Given the description of an element on the screen output the (x, y) to click on. 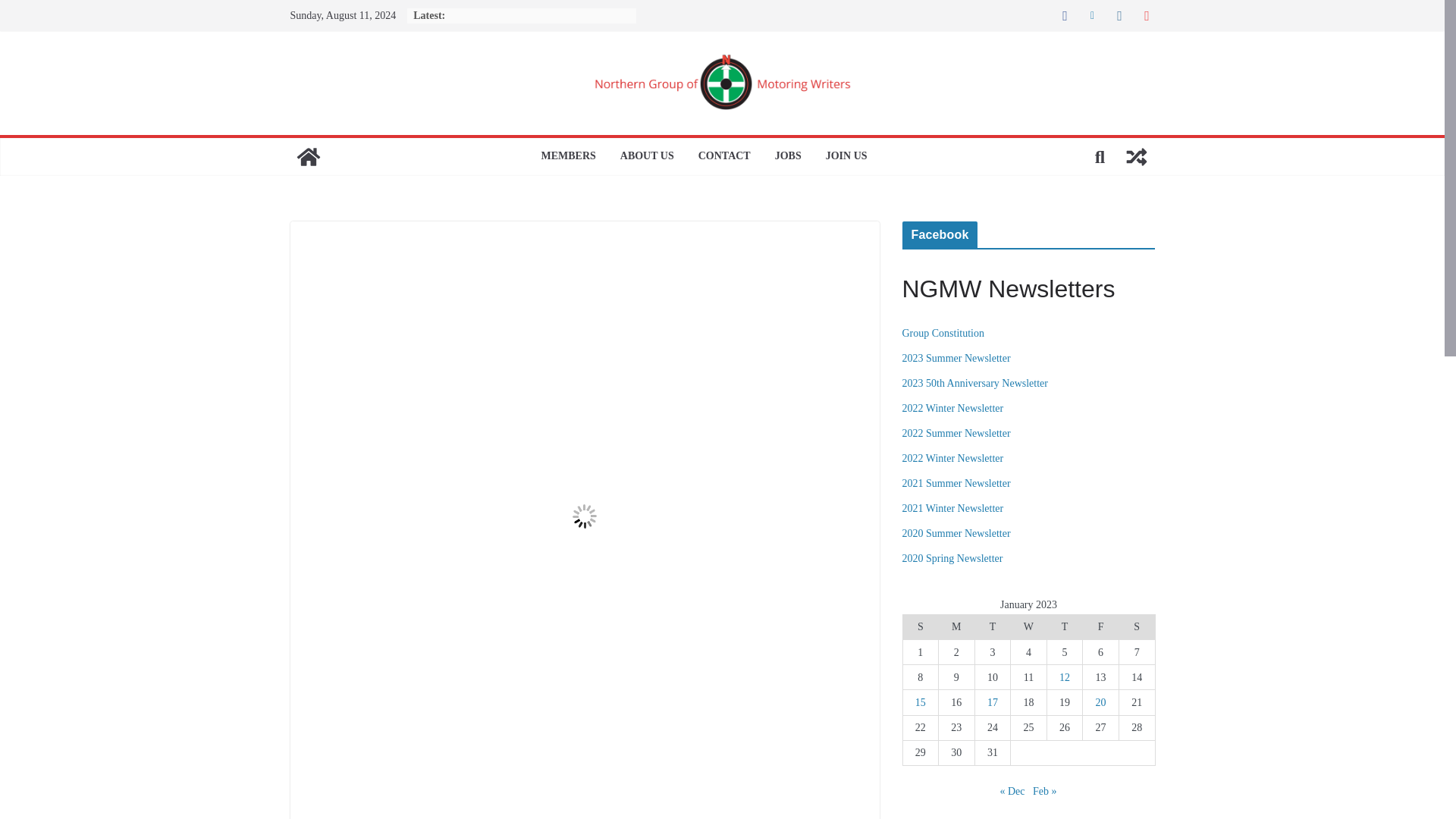
CONTACT (724, 156)
MEMBERS (567, 156)
JOIN US (846, 156)
ABOUT US (647, 156)
View a random post (1136, 156)
Northern Group of Motoring Writers (307, 156)
JOBS (788, 156)
